Given the description of an element on the screen output the (x, y) to click on. 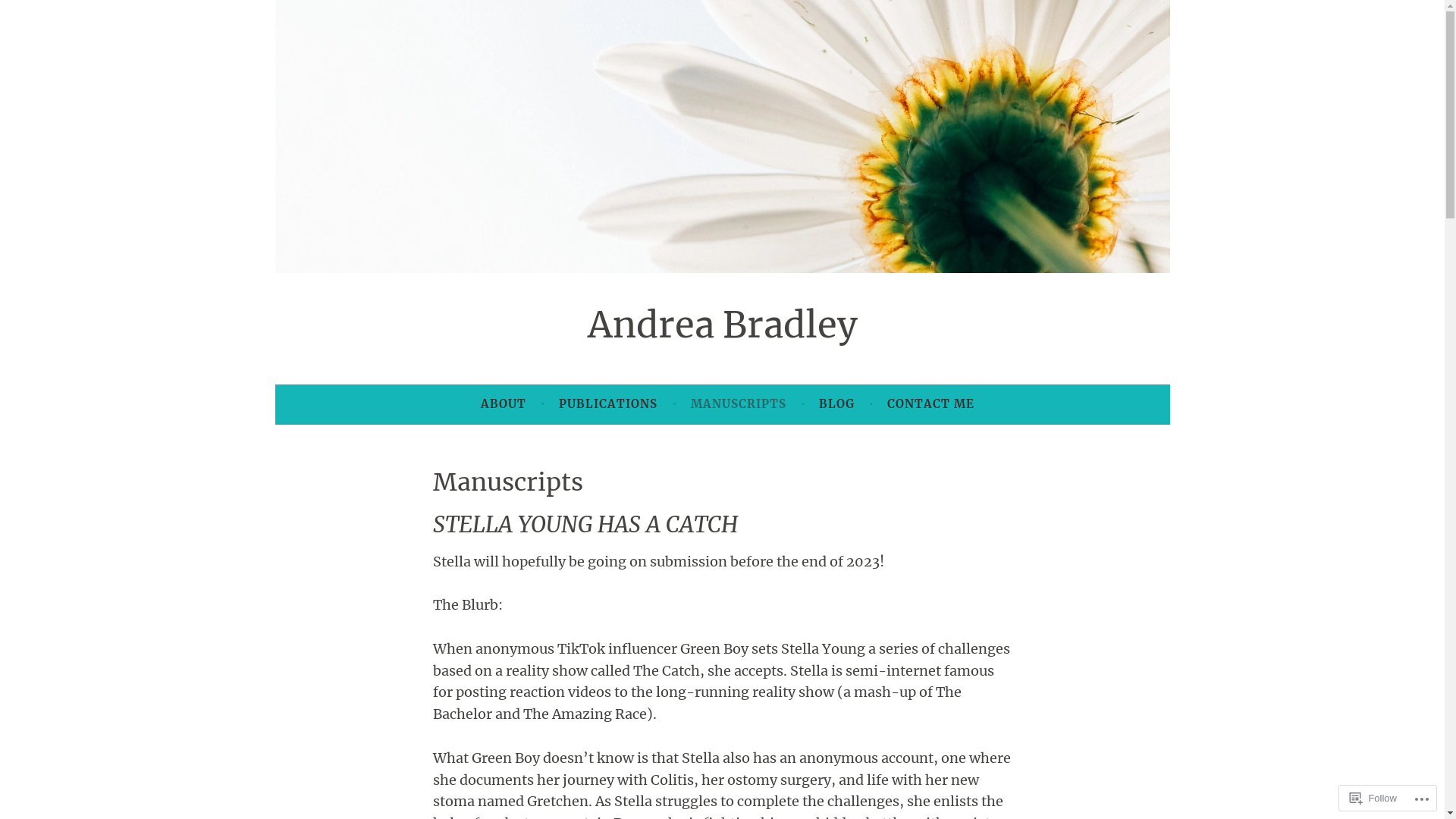
CONTACT ME Element type: text (930, 403)
BLOG Element type: text (836, 403)
ABOUT Element type: text (503, 403)
PUBLICATIONS Element type: text (607, 403)
MANUSCRIPTS Element type: text (738, 403)
Follow Element type: text (1372, 797)
Andrea Bradley Element type: text (721, 324)
